Given the description of an element on the screen output the (x, y) to click on. 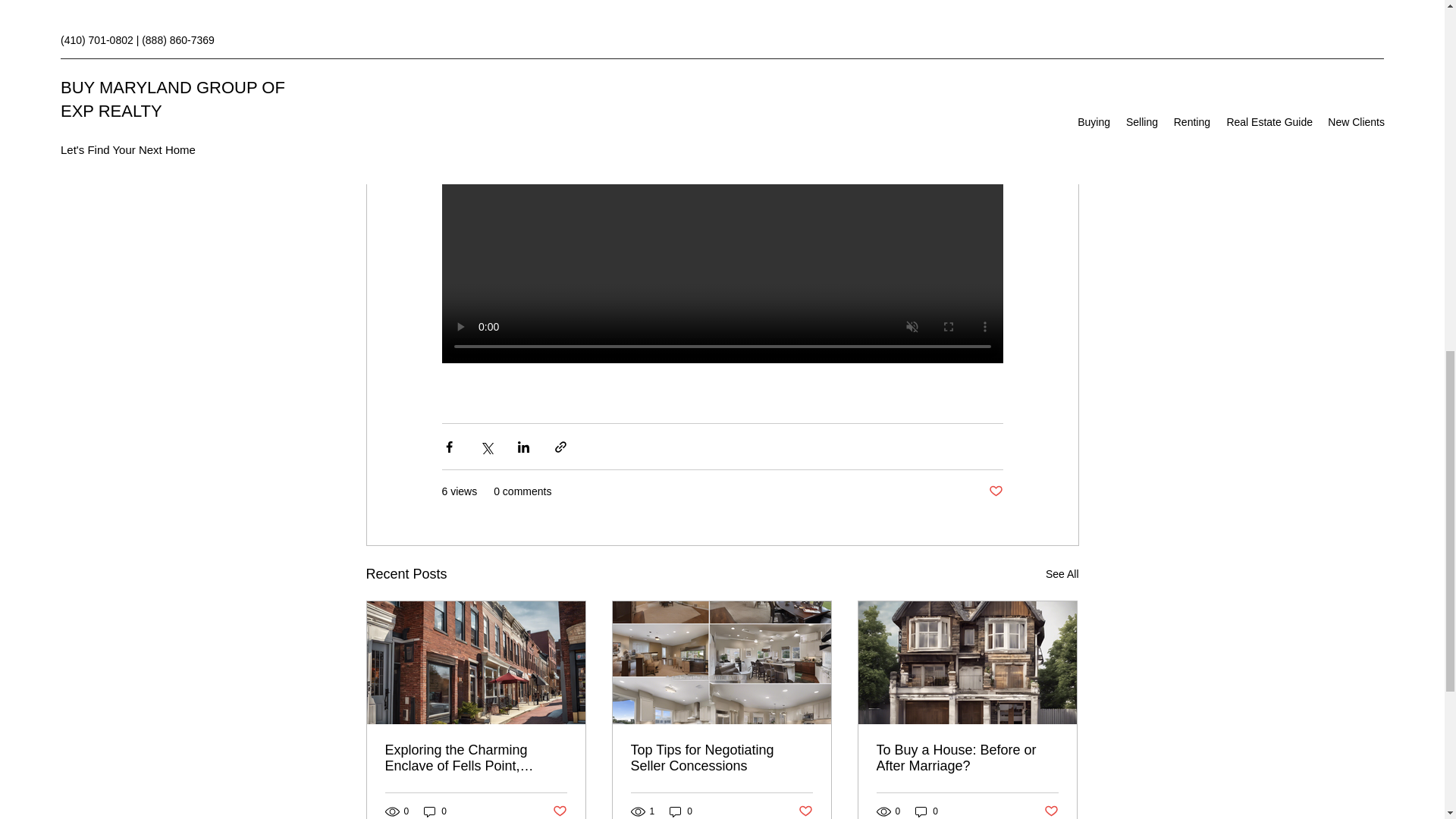
0 (681, 811)
0 (435, 811)
Post not marked as liked (558, 811)
Top Tips for Negotiating Seller Concessions (721, 757)
To Buy a House: Before or After Marriage? (967, 757)
Exploring the Charming Enclave of Fells Point, Maryland (476, 757)
Post not marked as liked (804, 811)
Post not marked as liked (1050, 811)
Post not marked as liked (995, 491)
0 (926, 811)
See All (1061, 574)
